Given the description of an element on the screen output the (x, y) to click on. 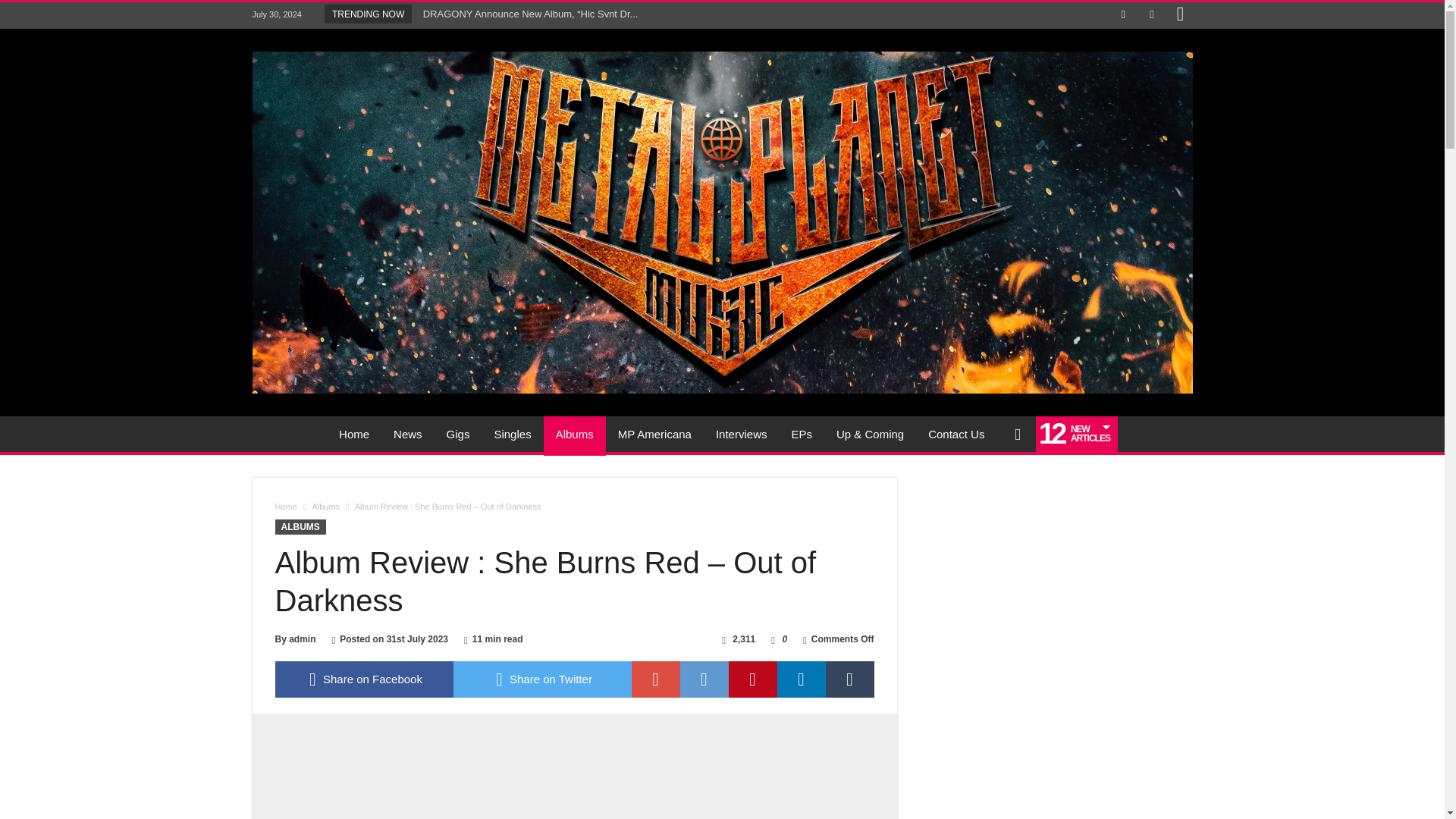
Twitter (1151, 15)
I like this article (772, 638)
pinterest (752, 678)
News (407, 434)
twitter (541, 678)
facebook (363, 678)
EPs (801, 434)
Albums (574, 434)
reddit (703, 678)
Facebook (1122, 15)
Home (353, 434)
MP Americana (654, 434)
Interviews (740, 434)
instagram (1179, 15)
tumblr (849, 678)
